Given the description of an element on the screen output the (x, y) to click on. 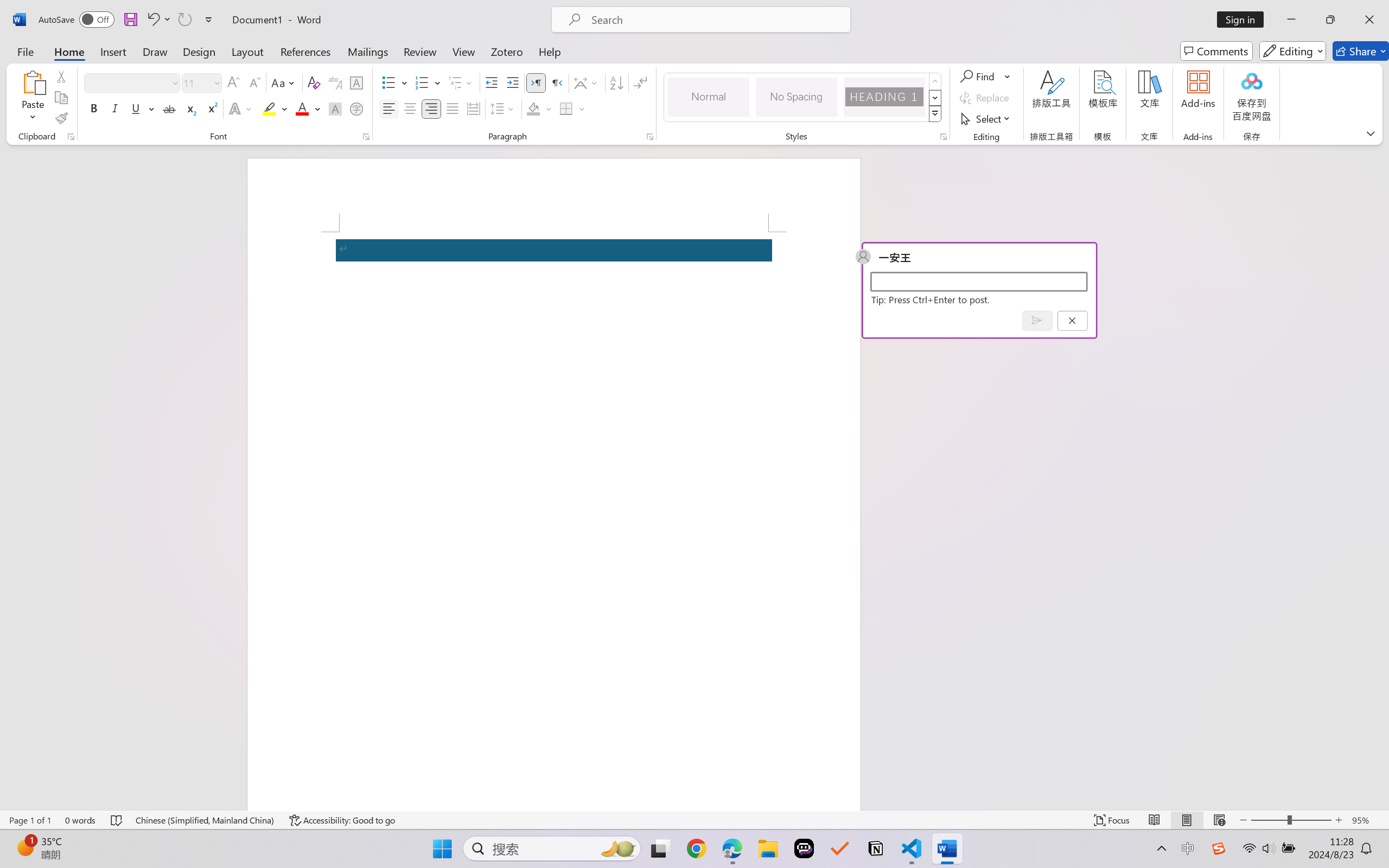
AutomationID: QuickStylesGallery (802, 97)
Post comment (Ctrl + Enter) (1036, 320)
Start a conversation (978, 281)
Undo (158, 19)
